Given the description of an element on the screen output the (x, y) to click on. 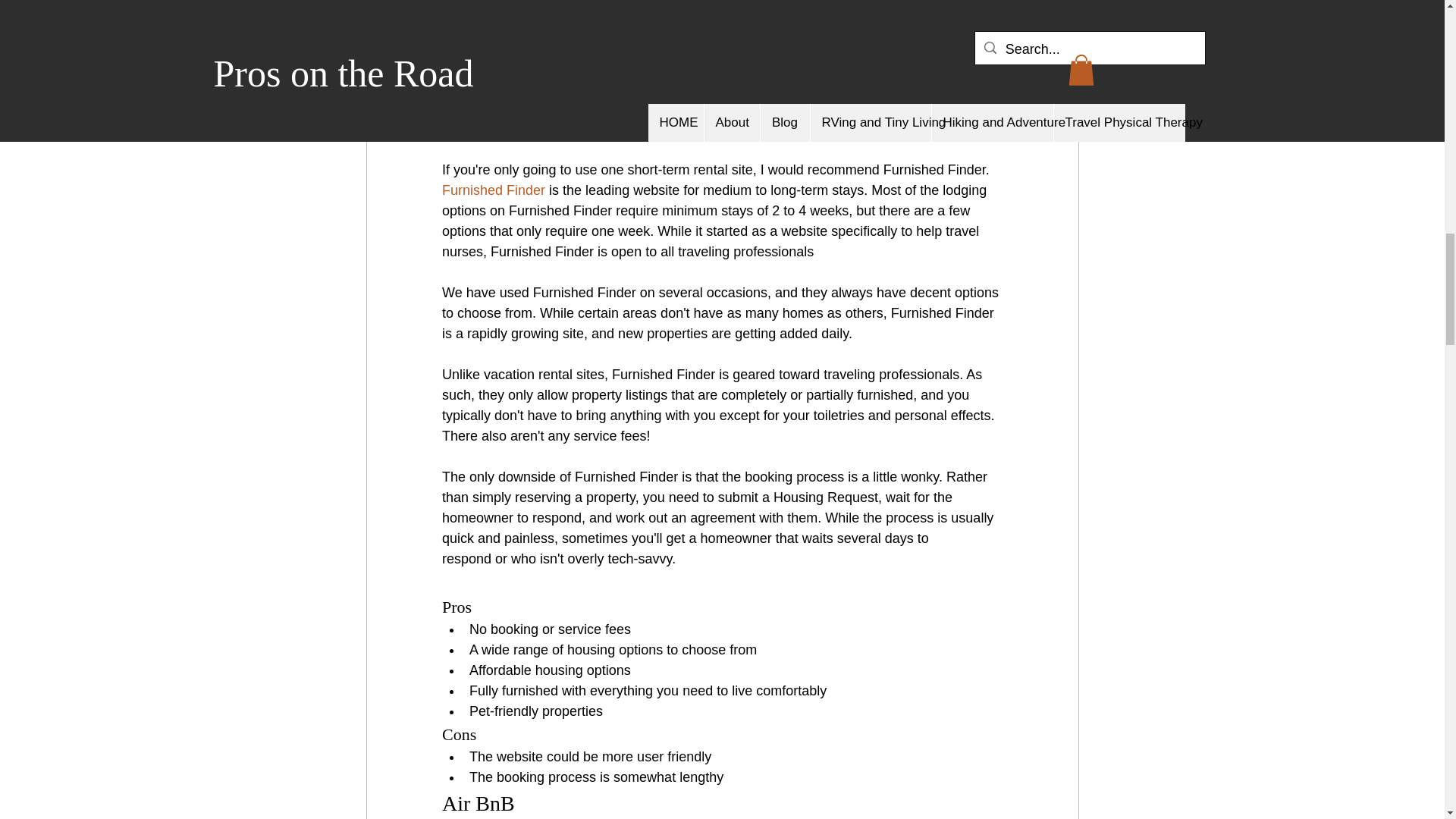
Furnished Finder (492, 190)
